Given the description of an element on the screen output the (x, y) to click on. 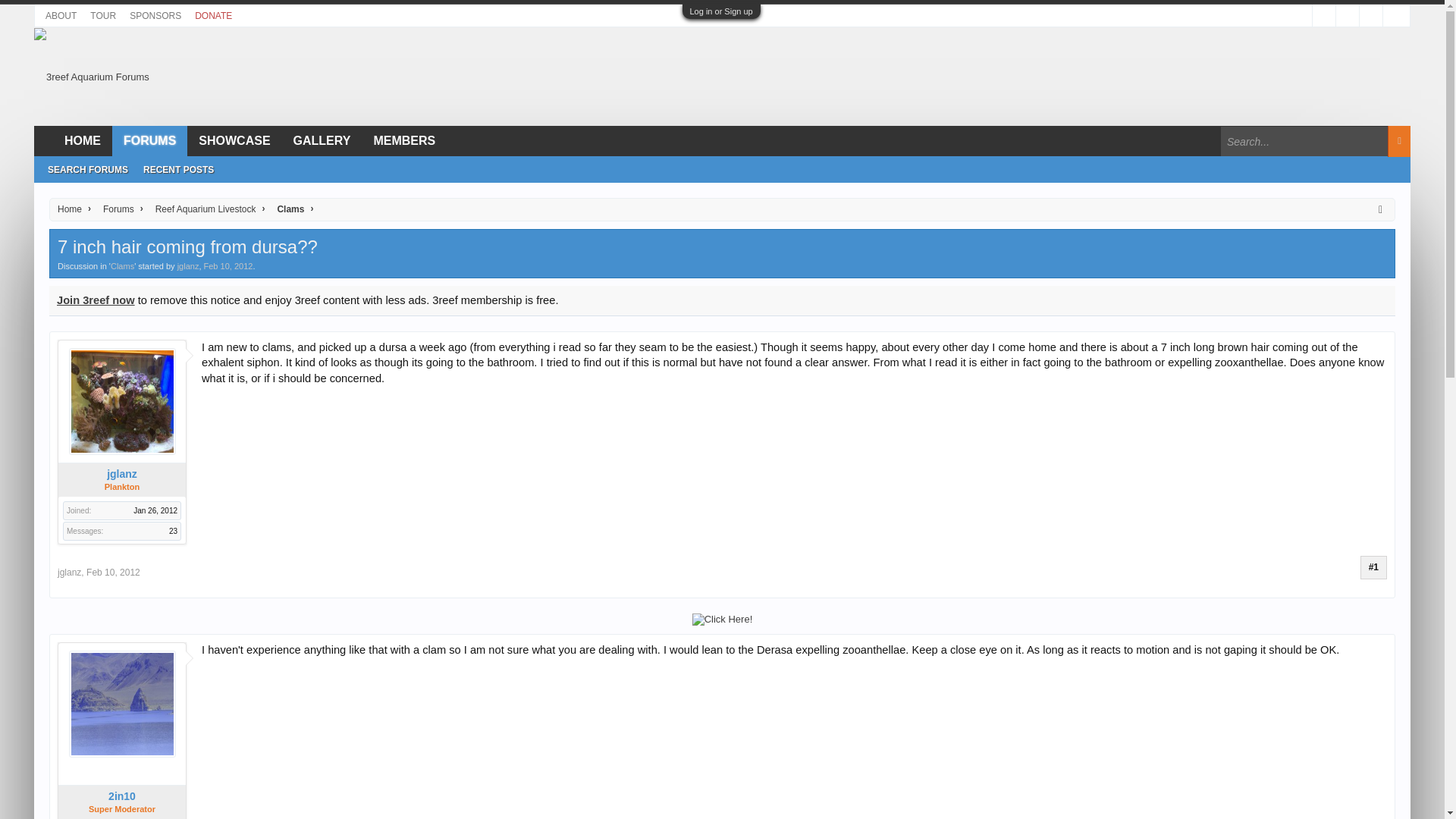
jglanz (188, 266)
3 Contributor (98, 767)
Feb 10, 2012 at 1:39 PM (228, 266)
Feb 10, 2012 (228, 266)
3 Reefer (76, 767)
Feb 10, 2012 (112, 572)
Permalink (112, 572)
Clams (121, 266)
23 (172, 531)
jglanz (121, 473)
